Given the description of an element on the screen output the (x, y) to click on. 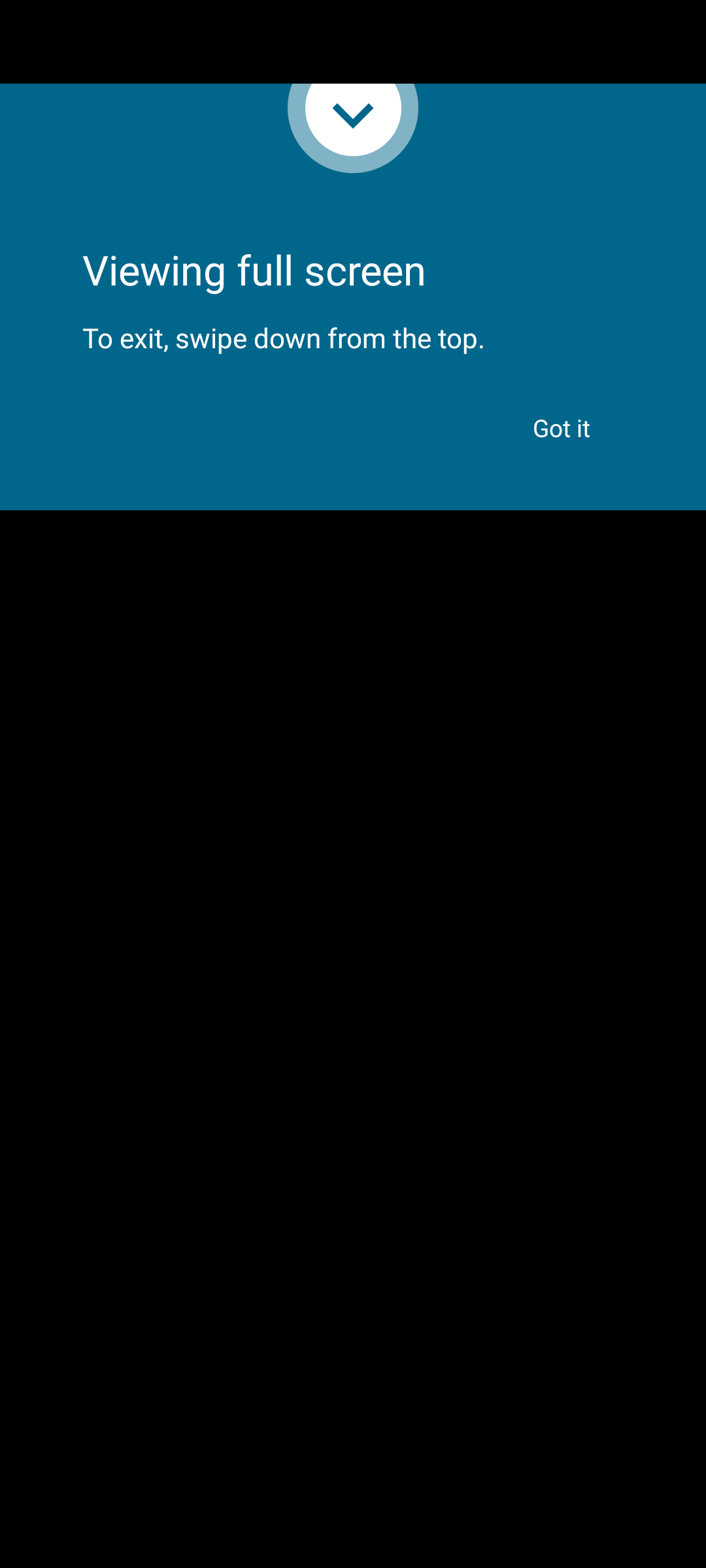
Got it (561, 427)
